Given the description of an element on the screen output the (x, y) to click on. 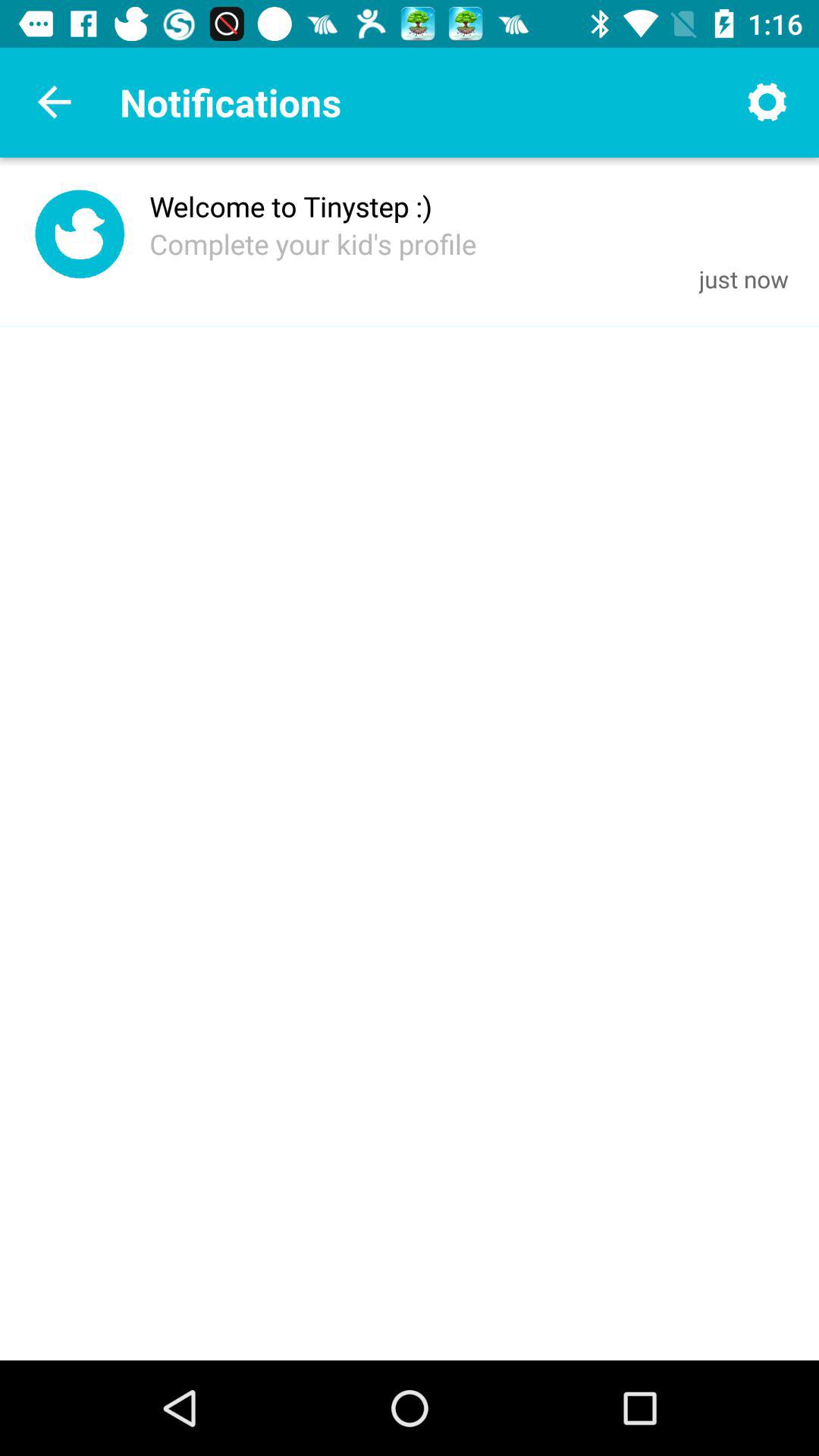
launch icon next to the complete your kid (743, 278)
